Given the description of an element on the screen output the (x, y) to click on. 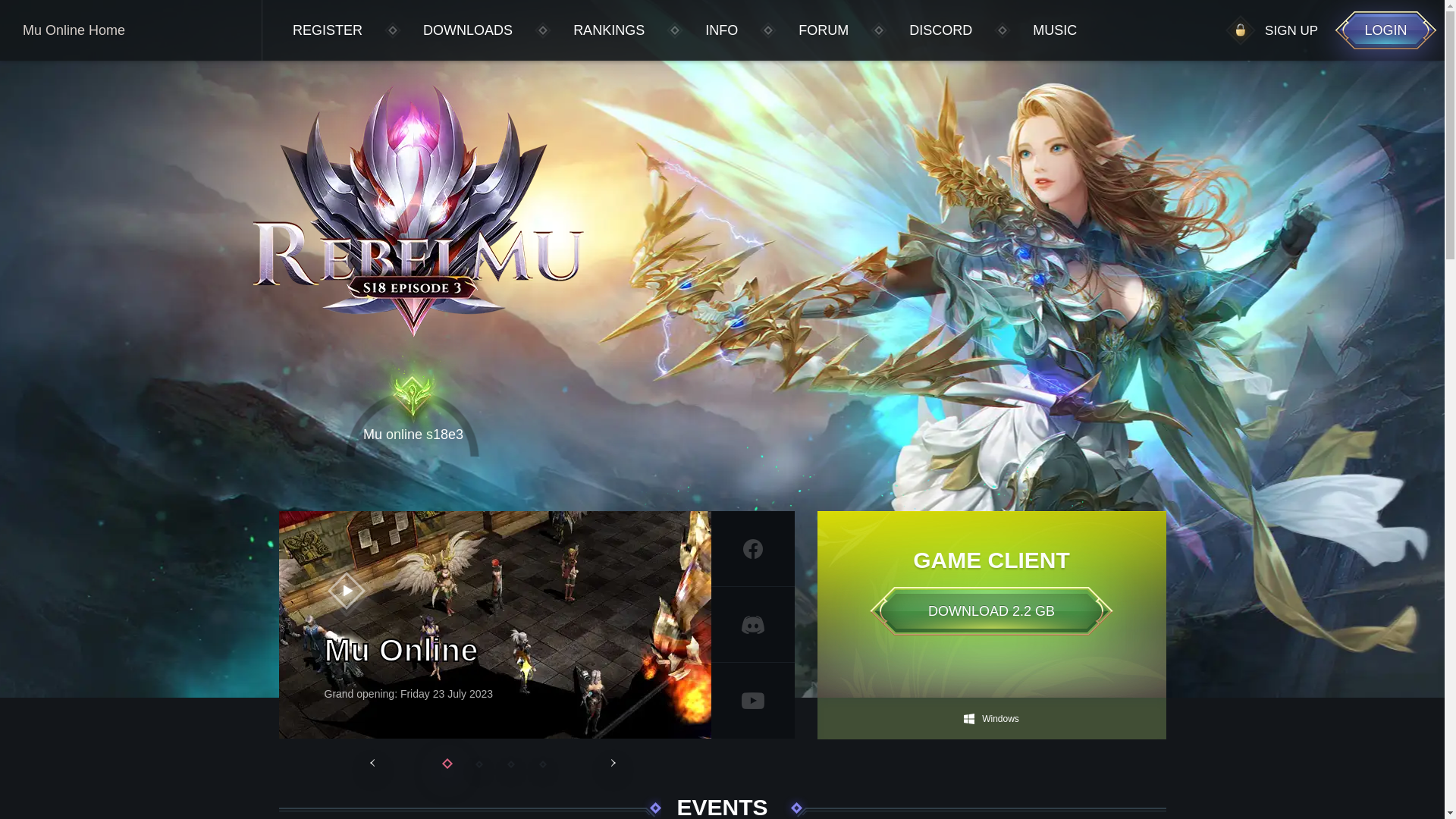
DISCORD Element type: text (940, 30)
DOWNLOADS Element type: text (467, 30)
4 Element type: text (542, 764)
PREVIOUS Element type: text (374, 762)
3 Element type: text (510, 764)
INFO Element type: text (721, 30)
LOGIN Element type: text (1385, 30)
SIGN UP Element type: text (1291, 30)
REGISTER Element type: text (327, 30)
1 Element type: text (446, 763)
RANKINGS Element type: text (608, 30)
NEXT Element type: text (615, 762)
FORUM Element type: text (823, 30)
2 Element type: text (478, 764)
Windows Element type: text (991, 718)
Mu Online Home                               Element type: text (130, 30)
DOWNLOAD 2.2 GB Element type: text (991, 610)
MUSIC Element type: text (1054, 30)
